Given the description of an element on the screen output the (x, y) to click on. 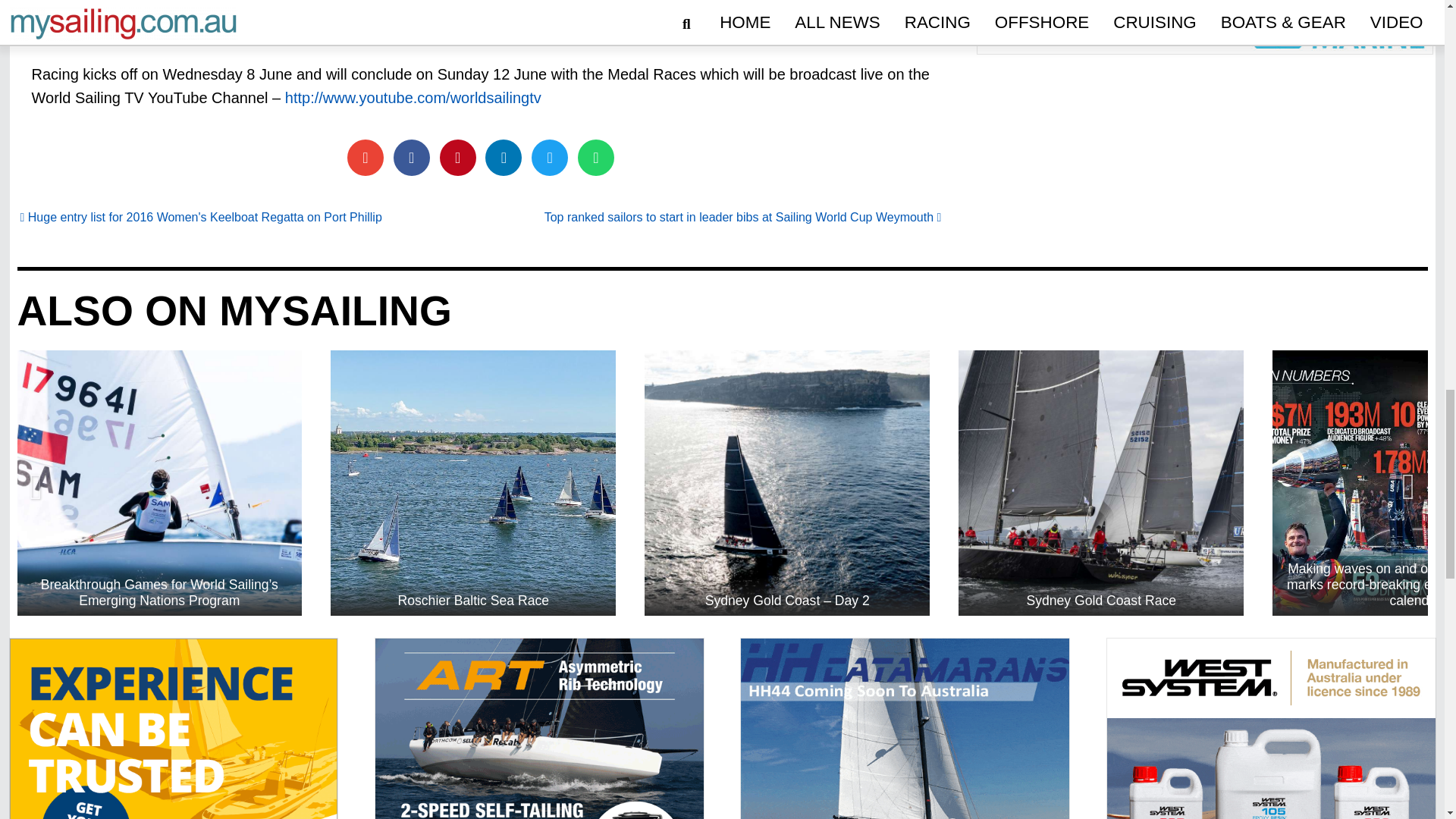
Share by Email (365, 157)
Roschier Baltic Sea Race (472, 482)
Sydney Gold Coast Race (1100, 482)
